Given the description of an element on the screen output the (x, y) to click on. 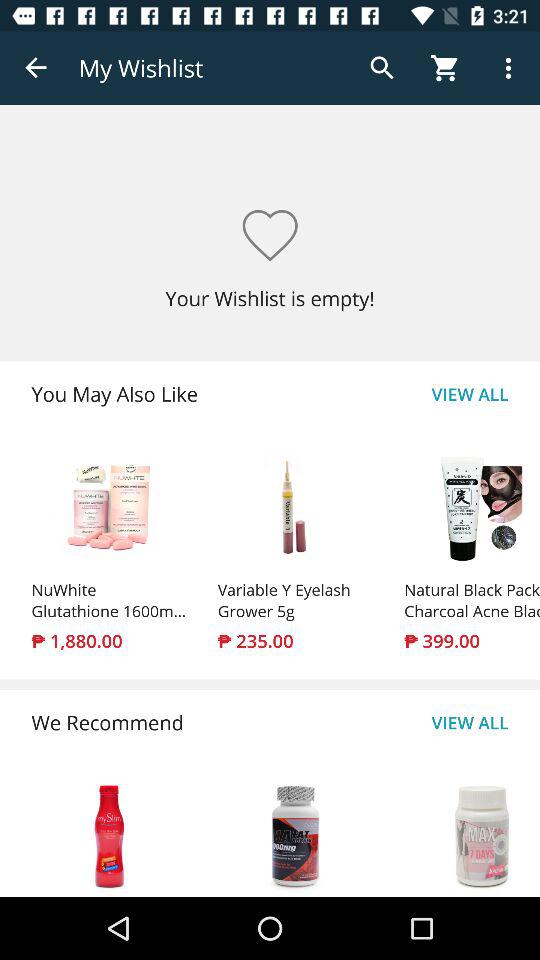
click icon to the left of the my wishlist item (36, 68)
